Given the description of an element on the screen output the (x, y) to click on. 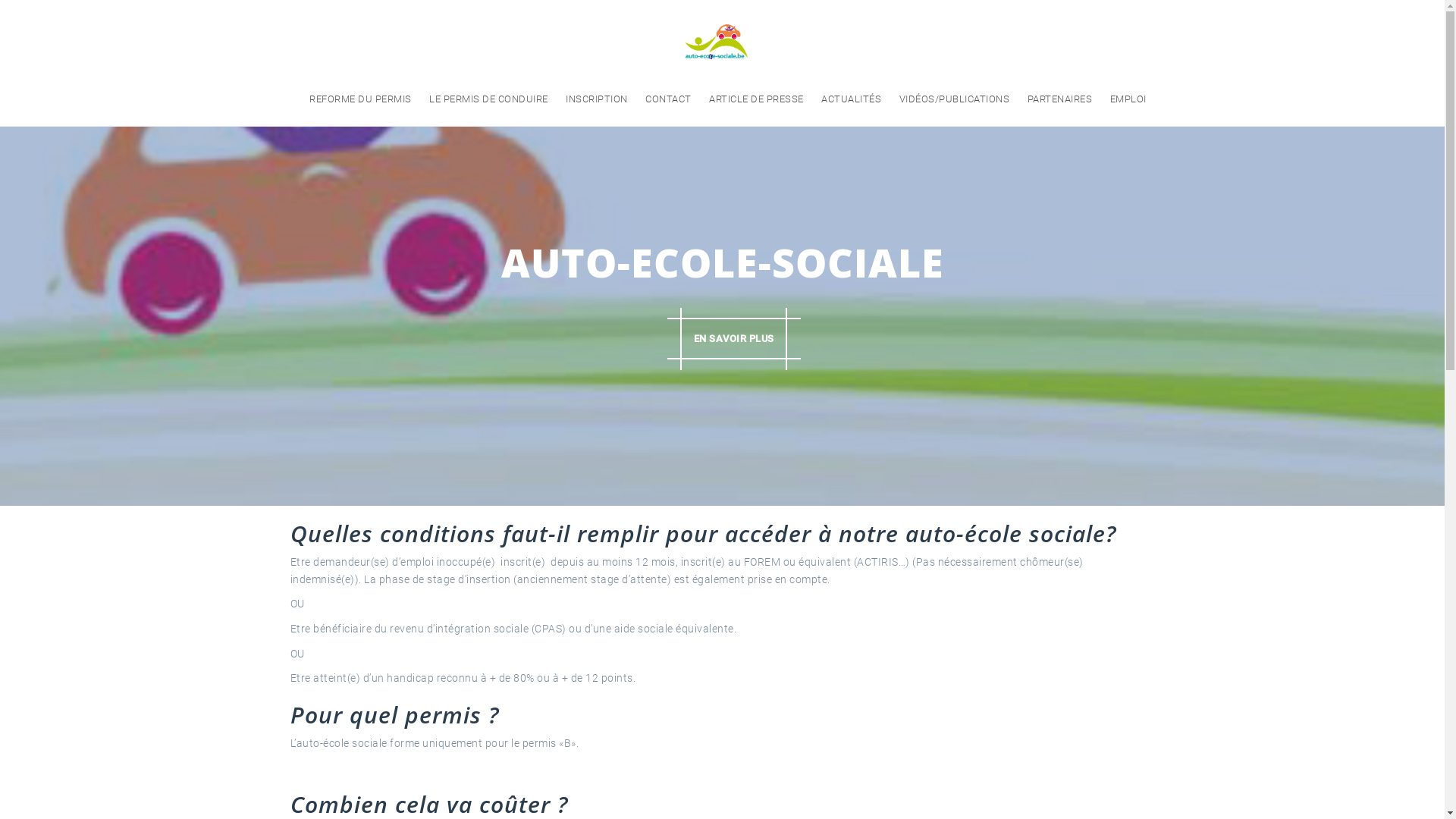
auto-ecole-sociale Element type: hover (716, 40)
INSCRIPTION Element type: text (596, 98)
LE PERMIS DE CONDUIRE Element type: text (488, 98)
REFORME DU PERMIS Element type: text (360, 98)
ARTICLE DE PRESSE Element type: text (756, 98)
PARTENAIRES Element type: text (1059, 98)
CONTACT Element type: text (668, 98)
EN SAVOIR PLUS Element type: text (733, 338)
EMPLOI Element type: text (1128, 98)
